Given the description of an element on the screen output the (x, y) to click on. 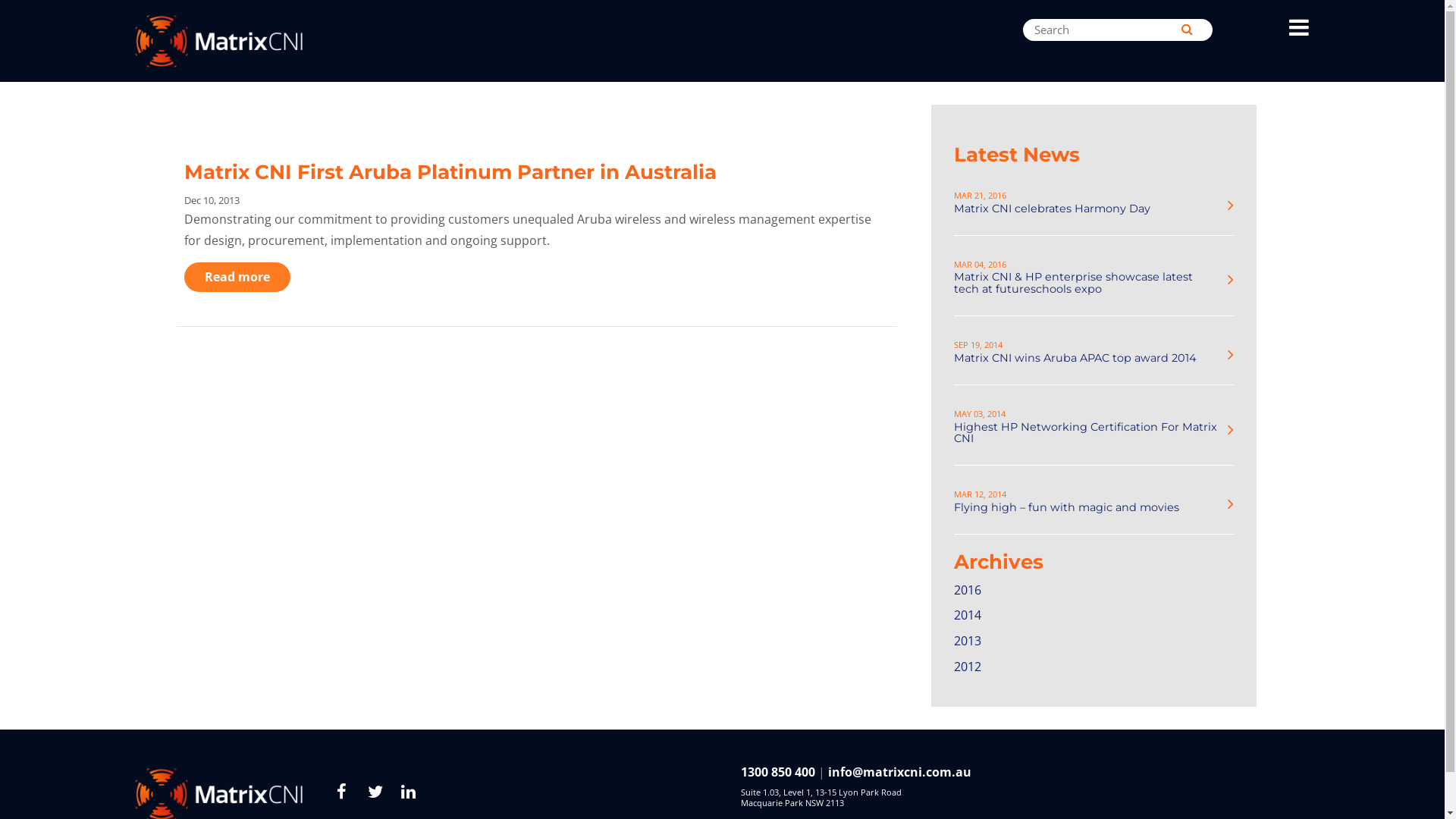
Matrix CNI First Aruba Platinum Partner in Australia Element type: text (449, 172)
2014 Element type: text (967, 612)
2016 Element type: text (967, 587)
MAR 21, 2016
Matrix CNI celebrates Harmony Day Element type: text (1086, 200)
2012 Element type: text (967, 664)
Search Element type: text (1186, 28)
Read more Element type: text (236, 276)
1300 850 400 Element type: text (777, 771)
info@matrixcni.com.au Element type: text (899, 771)
Matrix CNI Element type: hover (270, 40)
SEP 19, 2014
Matrix CNI wins Aruba APAC top award 2014 Element type: text (1086, 349)
2013 Element type: text (967, 638)
